Given the description of an element on the screen output the (x, y) to click on. 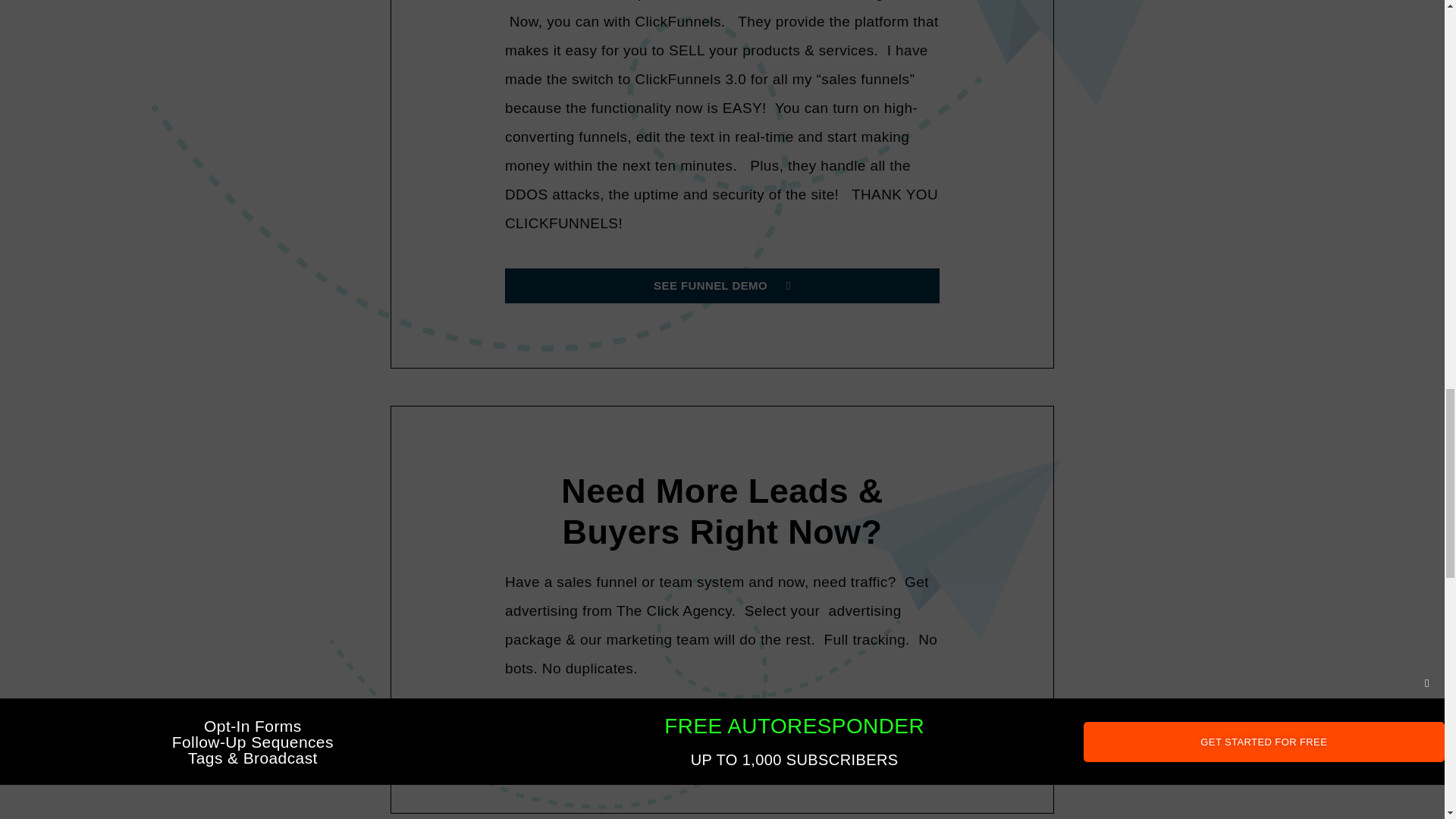
SEE FUNNEL DEMO (722, 285)
SELECT TRAFFIC PACKAGES (722, 730)
